Given the description of an element on the screen output the (x, y) to click on. 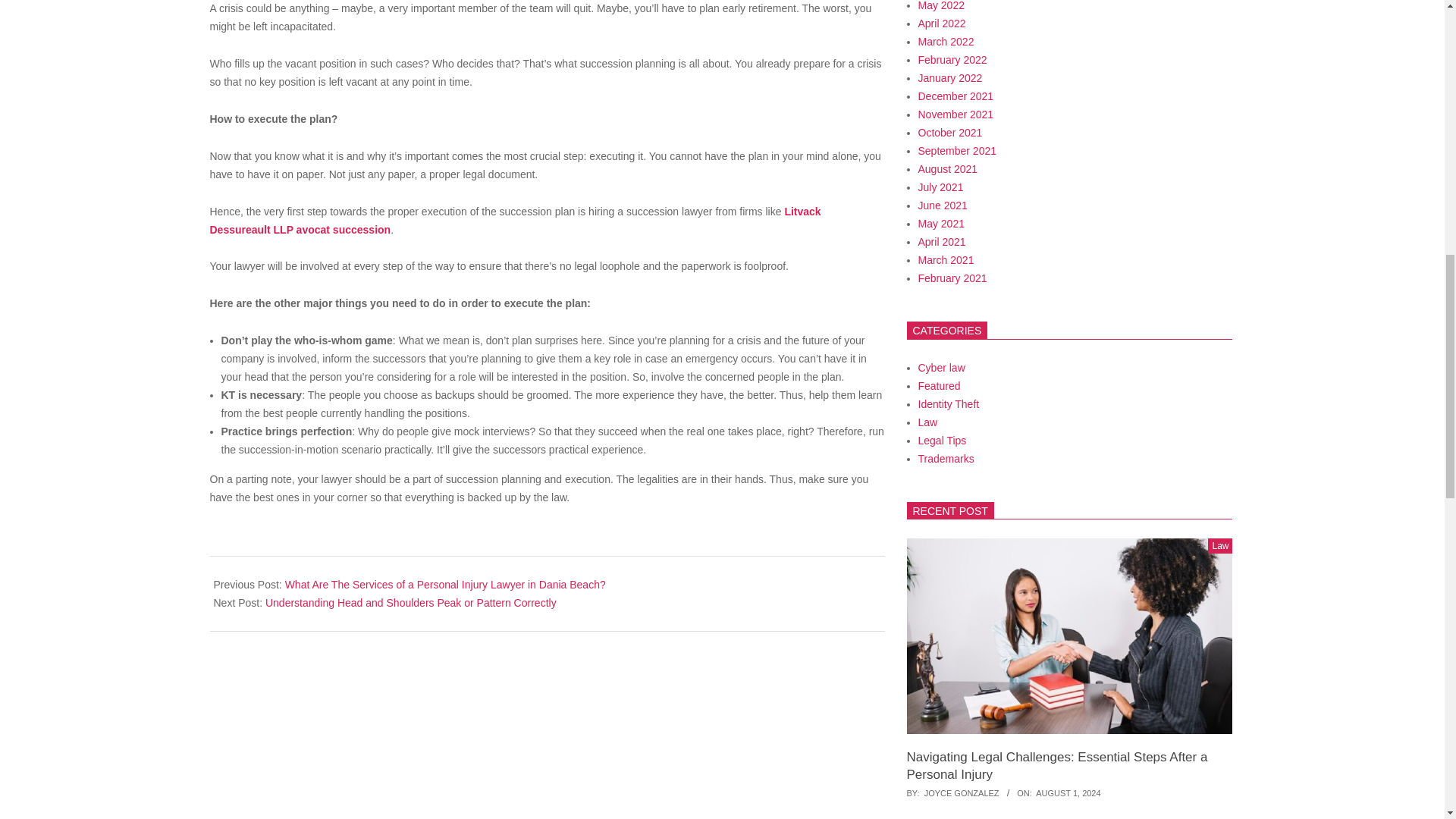
Understanding Head and Shoulders Peak or Pattern Correctly (410, 603)
Posts by Joyce Gonzalez (961, 792)
Litvack Dessureault LLP avocat succession (515, 219)
Thursday, August 1, 2024, 2:10 pm (1067, 792)
